Given the description of an element on the screen output the (x, y) to click on. 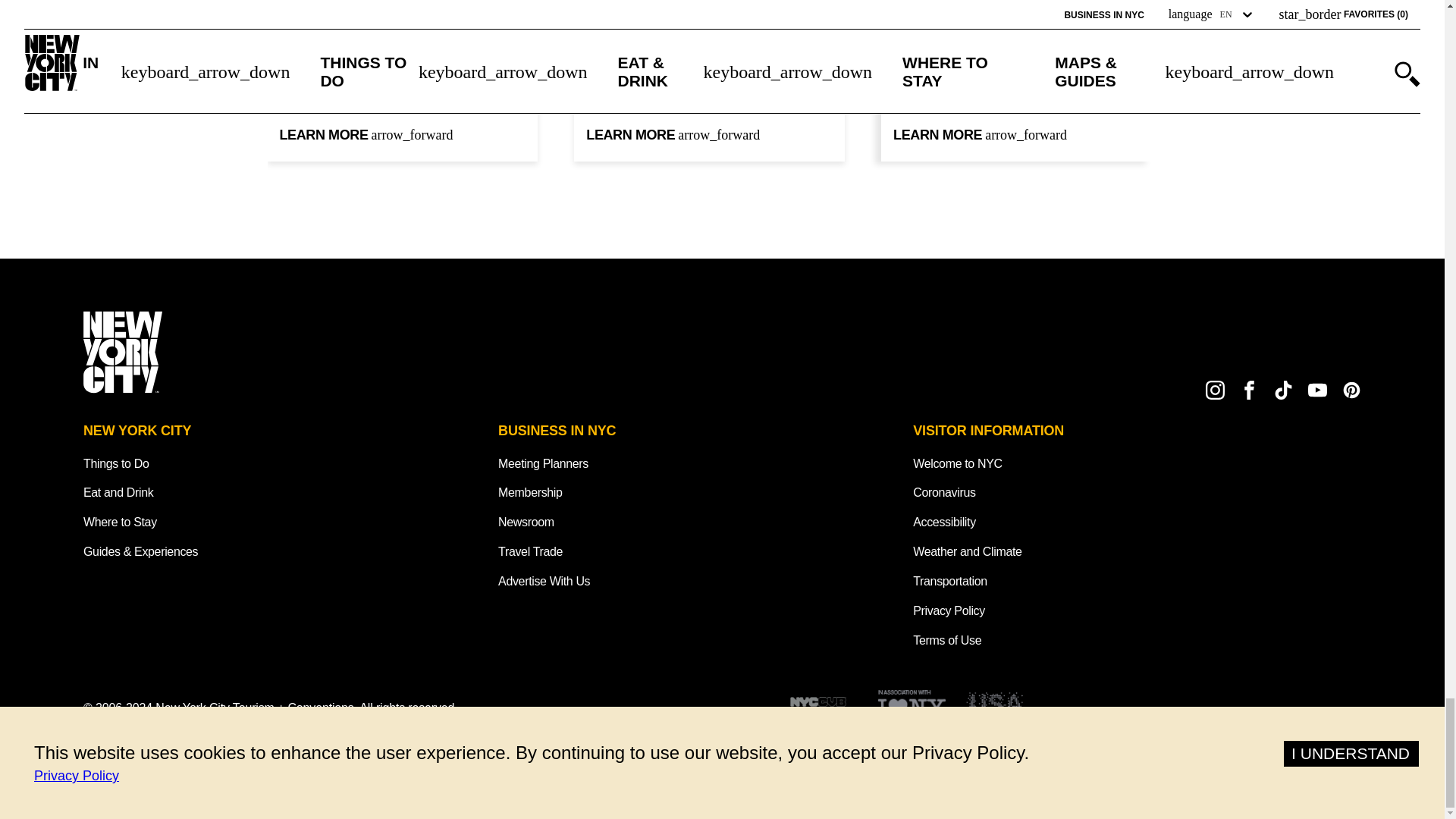
New York City Tourism and Conventions Instagram (1214, 389)
New York City Tourism and Conventions Pinterest (1351, 389)
New York City Tourism and Conventions YouTube (1316, 389)
New York City Tourism and Conventions Facebook (1249, 389)
New York City Tourism and Conventions TikTok (1283, 389)
Explore New York City with Big Apple Greeter (709, 15)
17 Best NYC Cooking Classes (402, 3)
